Given the description of an element on the screen output the (x, y) to click on. 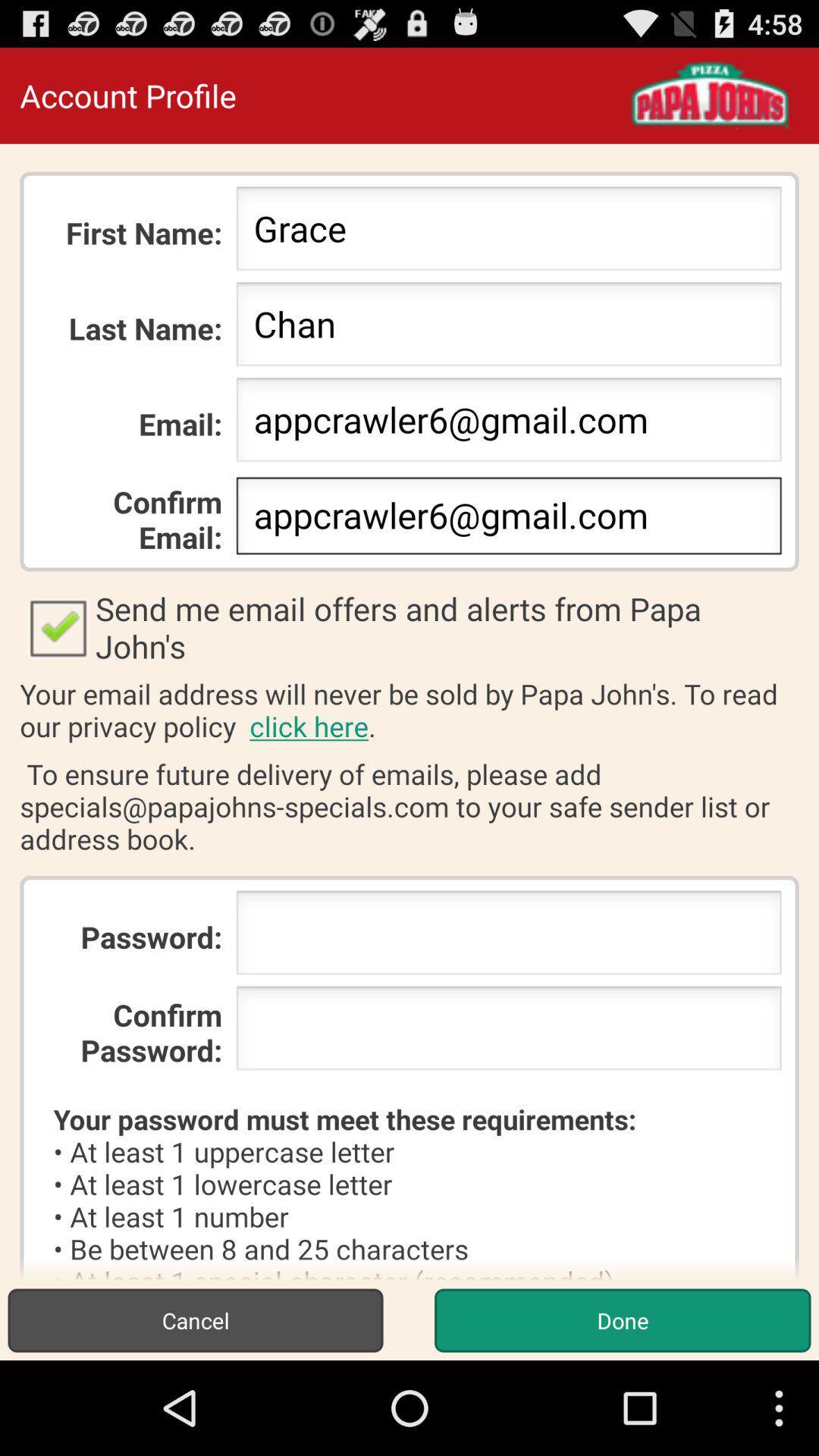
scroll until send me email (409, 627)
